Given the description of an element on the screen output the (x, y) to click on. 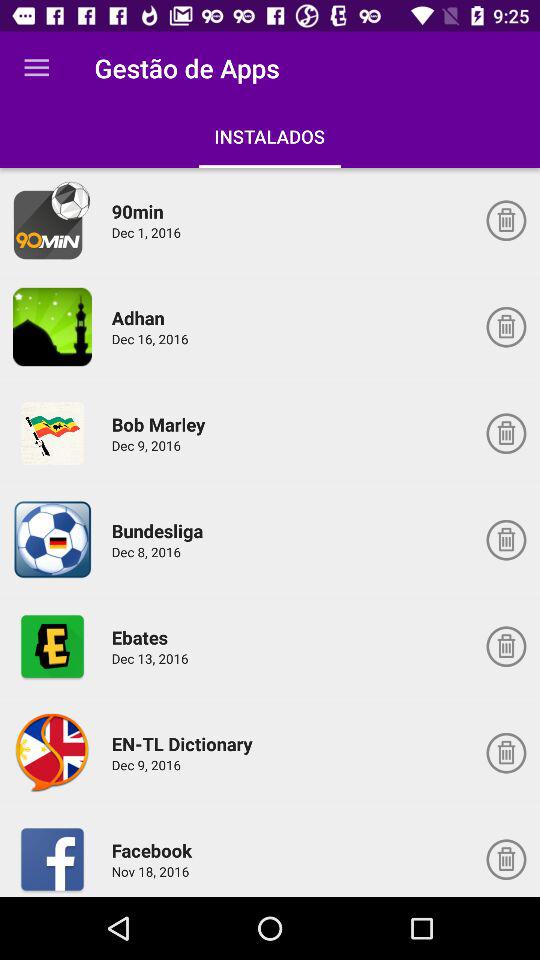
open app page (52, 539)
